Given the description of an element on the screen output the (x, y) to click on. 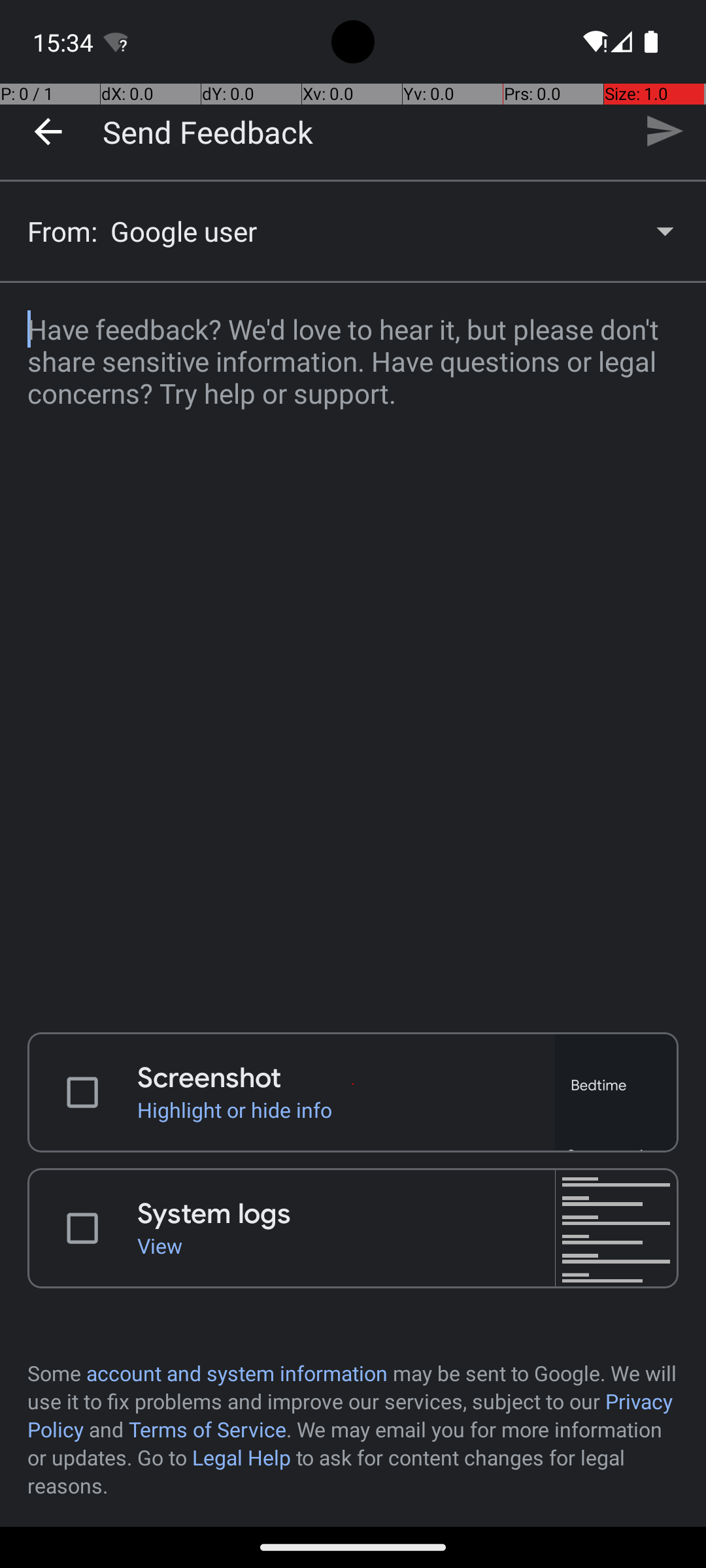
Send Feedback Element type: android.widget.TextView (207, 131)
Send Element type: android.widget.Button (664, 131)
Have feedback? We'd love to hear it, but please don't share sensitive information. Have questions or legal concerns? Try help or support. Element type: android.widget.EditText (353, 649)
Some account and system information may be sent to Google. We will use it to fix problems and improve our services, subject to our Privacy Policy and Terms of Service. We may email you for more information or updates. Go to Legal Help to ask for content changes for legal reasons. Element type: android.widget.TextView (352, 1428)
From:  Google user Element type: android.widget.TextView (352, 230)
Screenshot Element type: android.widget.TextView (345, 1077)
Highlight or hide info Element type: android.widget.TextView (345, 1109)
System logs Element type: android.widget.TextView (345, 1213)
View Element type: android.widget.TextView (345, 1245)
